Given the description of an element on the screen output the (x, y) to click on. 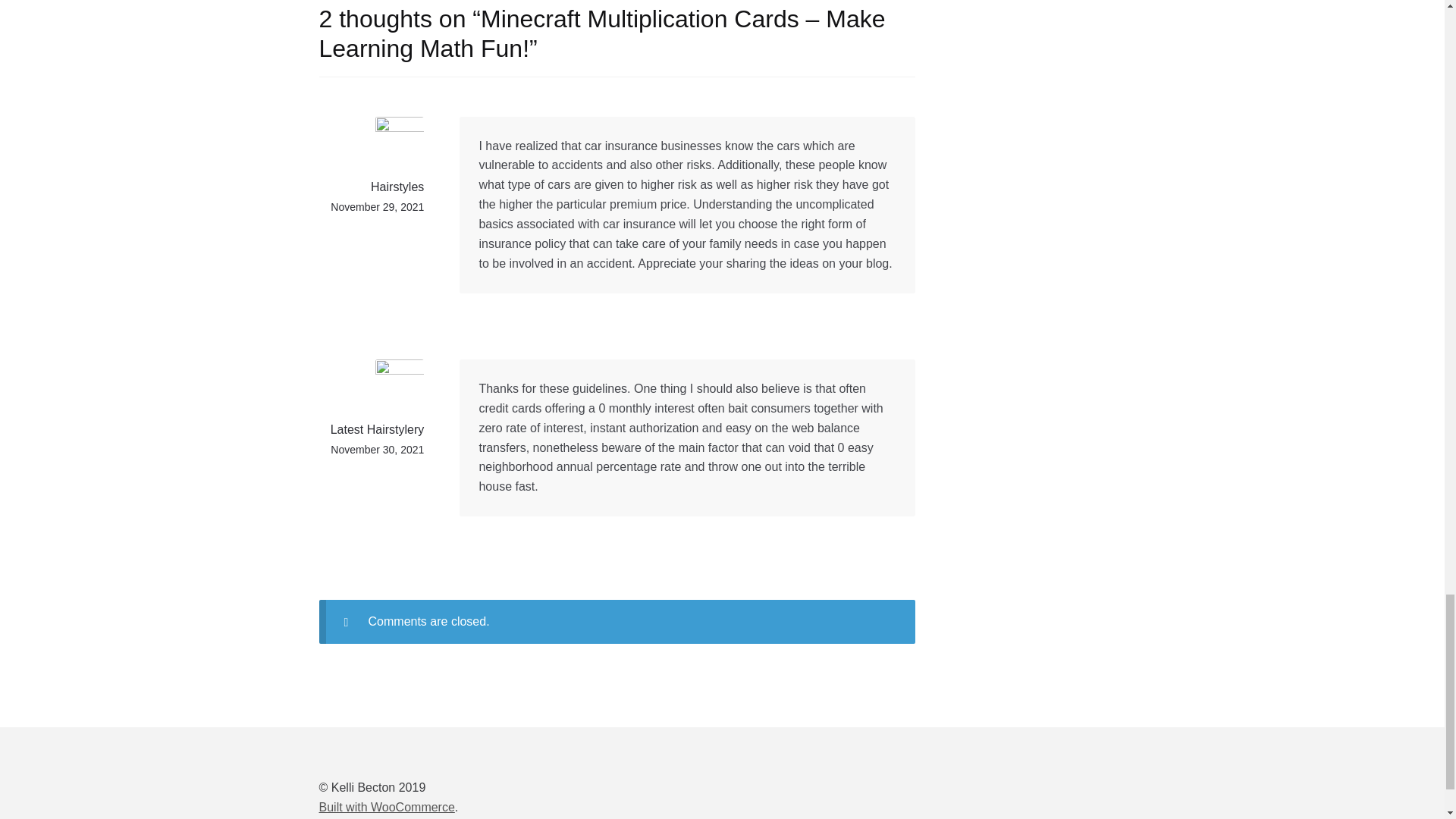
Built with WooCommerce (386, 807)
Hairstyles (397, 186)
November 29, 2021 (376, 206)
Latest Hairstylery (377, 429)
WooCommerce - The Best eCommerce Platform for WordPress (386, 807)
November 30, 2021 (376, 449)
